Given the description of an element on the screen output the (x, y) to click on. 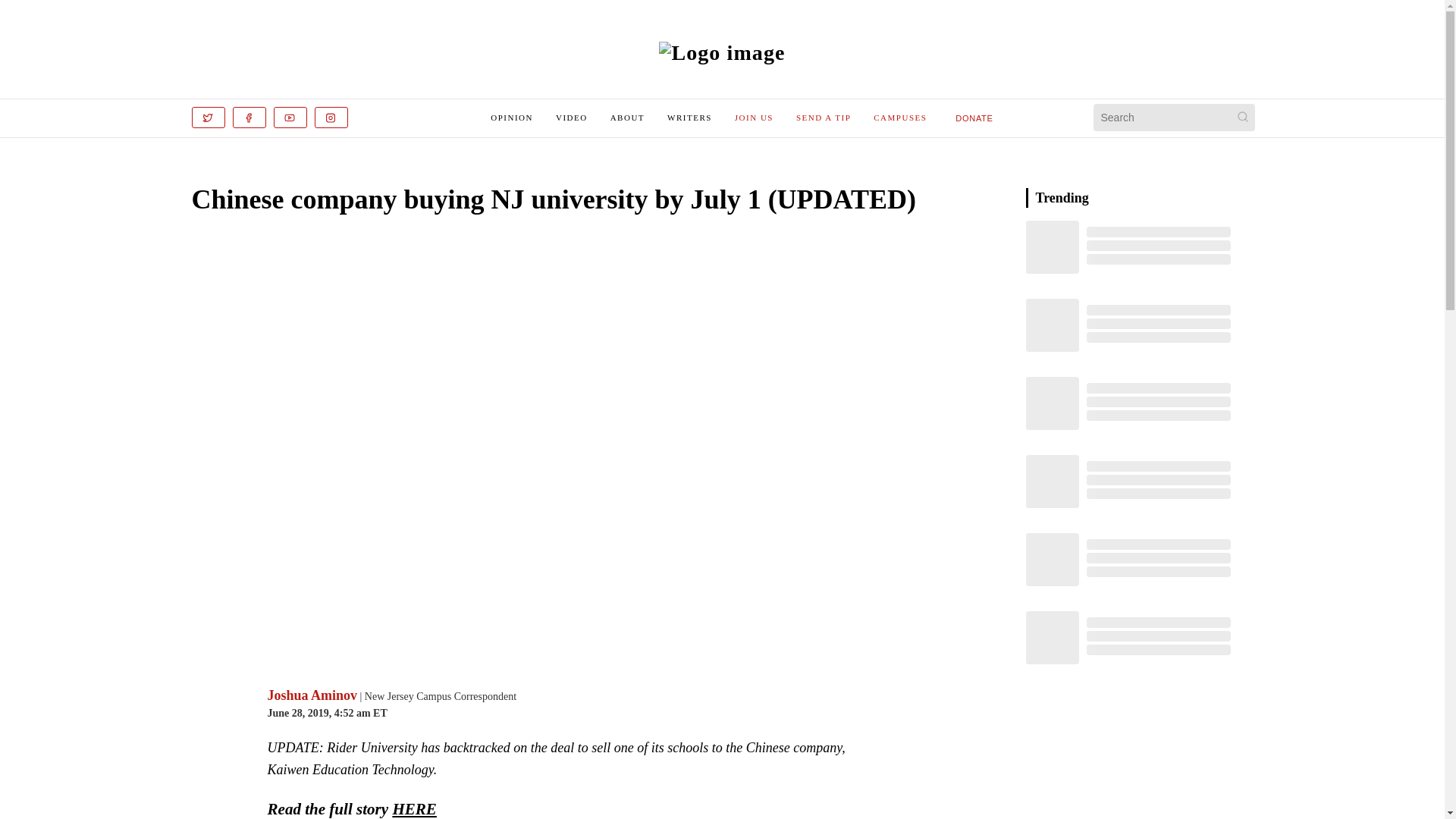
CAMPUSES (899, 117)
VIDEO (572, 117)
DONATE (974, 117)
JOIN US (754, 117)
DONATE (974, 117)
WRITERS (688, 117)
SEND A TIP (823, 117)
ABOUT (627, 117)
OPINION (511, 117)
